Given the description of an element on the screen output the (x, y) to click on. 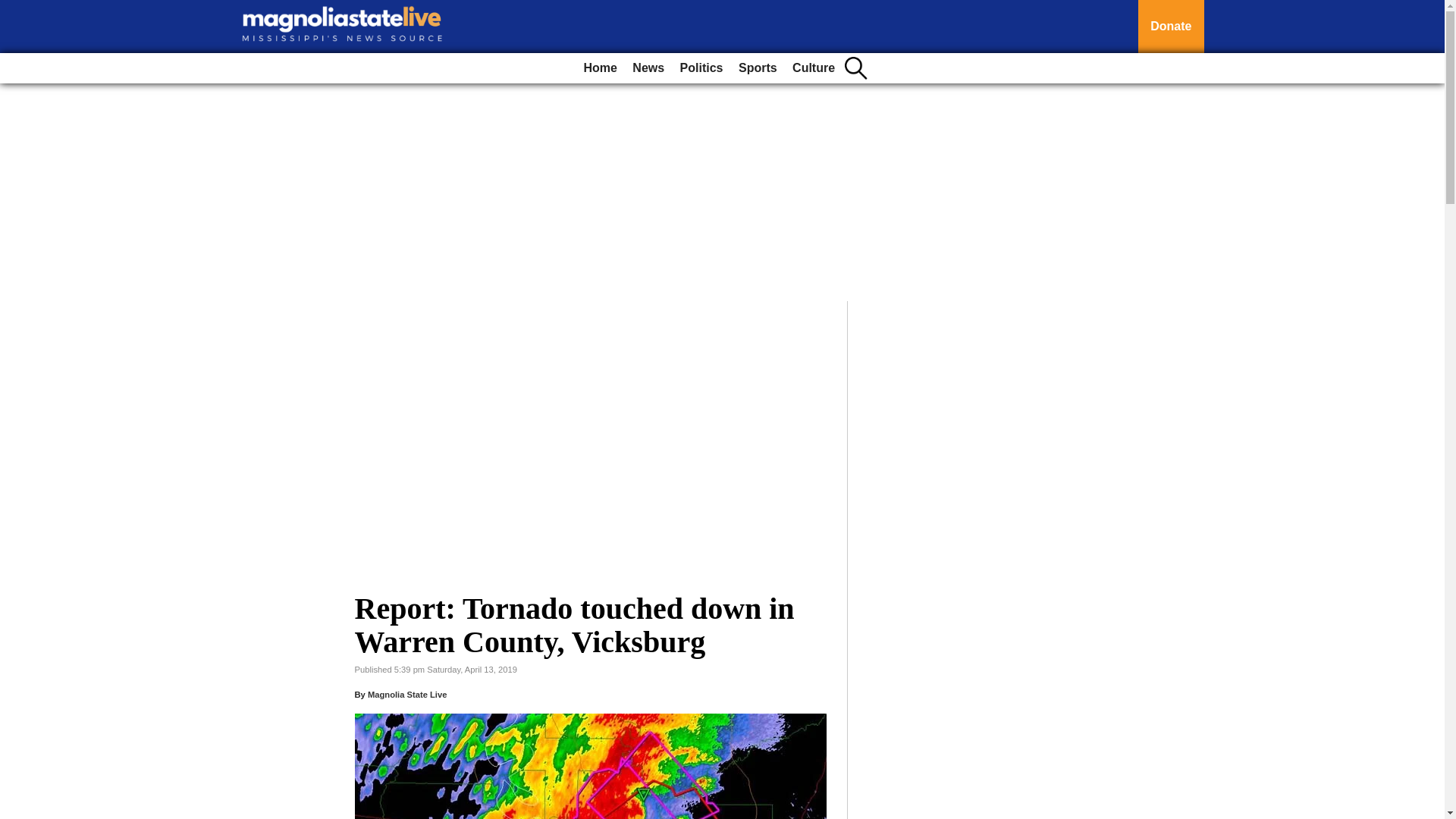
Politics (701, 68)
News (647, 68)
Sports (757, 68)
Home (599, 68)
Donate (1171, 26)
Magnolia State Live (407, 694)
Go (13, 9)
Culture (813, 68)
